Given the description of an element on the screen output the (x, y) to click on. 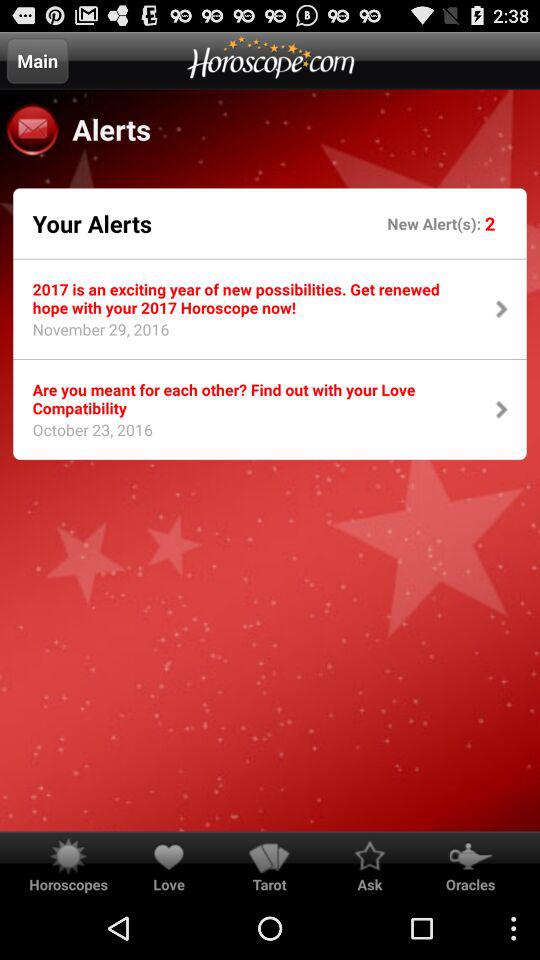
swipe until your alerts app (91, 223)
